Given the description of an element on the screen output the (x, y) to click on. 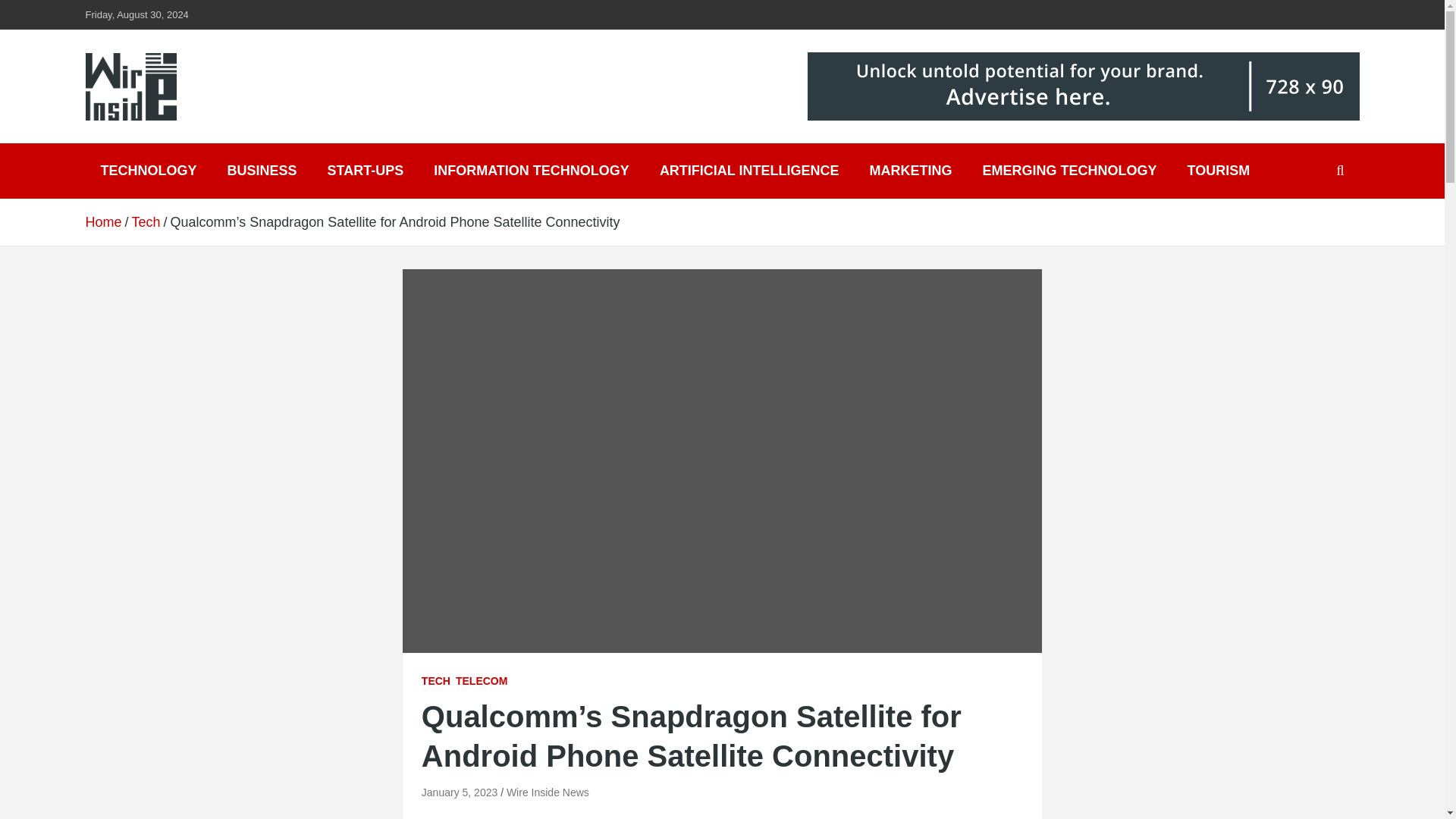
TECHNOLOGY (147, 170)
January 5, 2023 (459, 792)
EMERGING TECHNOLOGY (1070, 170)
Wire Inside News (547, 792)
BUSINESS (262, 170)
START-UPS (366, 170)
INFORMATION TECHNOLOGY (532, 170)
Home (102, 222)
TECH (435, 681)
Tech (146, 222)
